Given the description of an element on the screen output the (x, y) to click on. 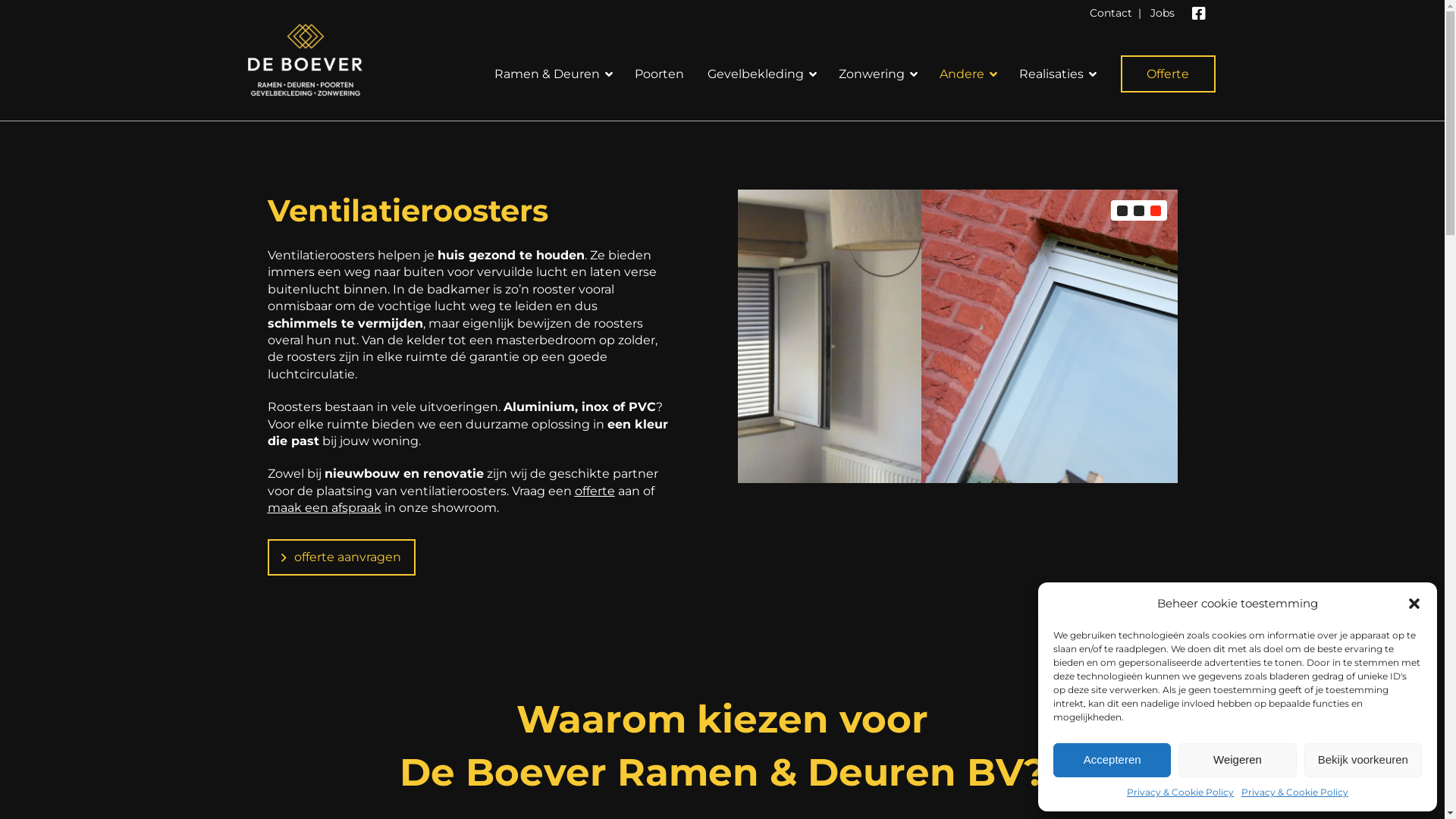
Privacy & Cookie Policy Element type: text (1179, 792)
Zonwering Element type: text (875, 73)
De Boever Ramen & Deuren BV Element type: text (710, 772)
Accepteren Element type: text (1111, 760)
Poorten Element type: text (657, 73)
Offerte Element type: text (1167, 73)
Ventilatieroosters Element type: hover (912, 336)
Weigeren Element type: text (1236, 760)
offerte Element type: text (594, 490)
Bekijk voorkeuren Element type: text (1362, 760)
3 Element type: text (1154, 210)
Realisaties Element type: text (1054, 73)
offerte aanvragen Element type: text (340, 557)
2 Element type: text (1137, 210)
1 Element type: text (1121, 210)
Contact Element type: text (1109, 12)
Privacy & Cookie Policy Element type: text (1294, 792)
Andere Element type: text (966, 73)
Jobs Element type: text (1161, 12)
maak een afspraak Element type: text (323, 507)
Ramen & Deuren Element type: text (550, 73)
Gevelbekleding Element type: text (759, 73)
